Given the description of an element on the screen output the (x, y) to click on. 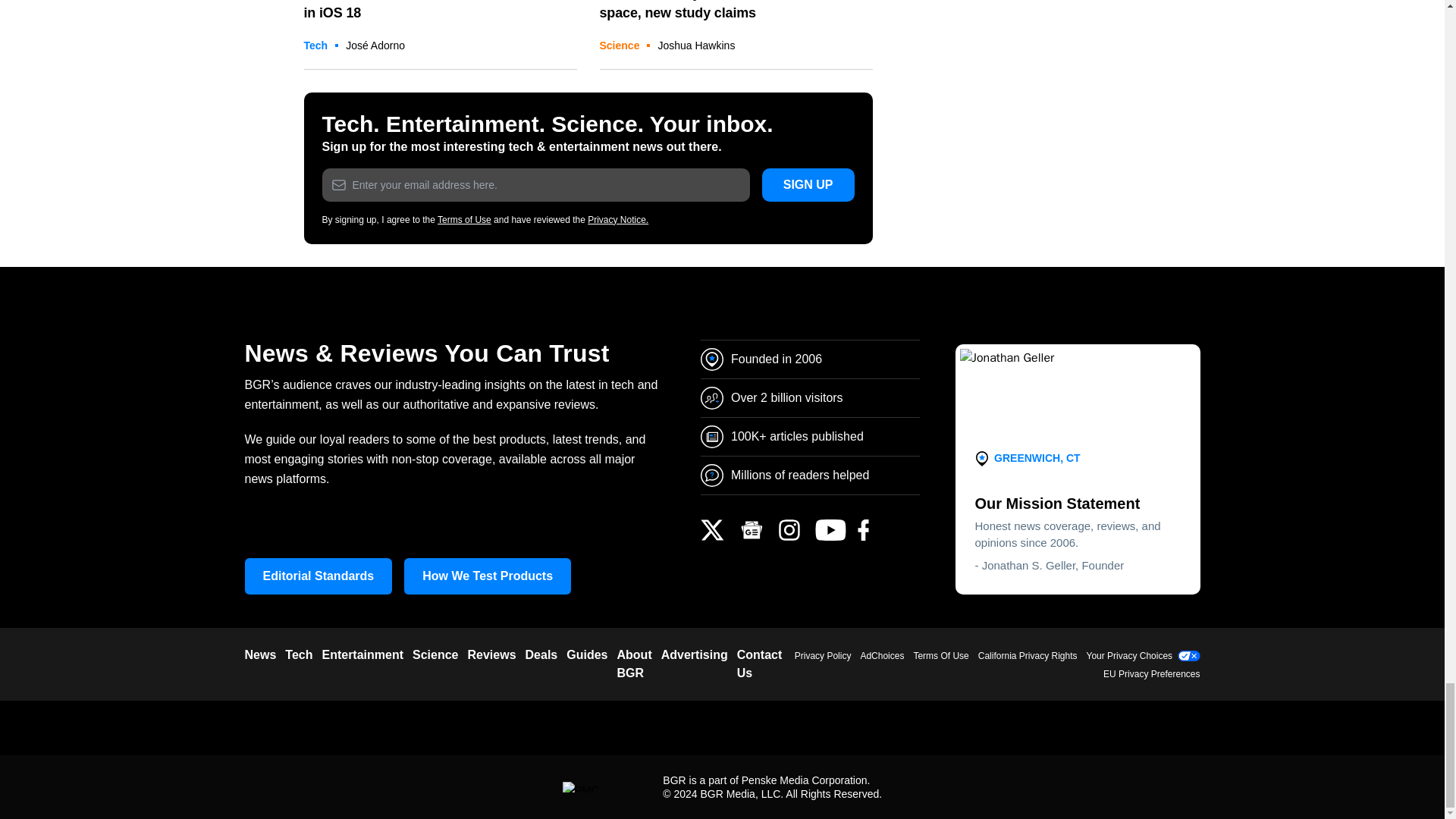
Posts by Joshua Hawkins (696, 45)
